Given the description of an element on the screen output the (x, y) to click on. 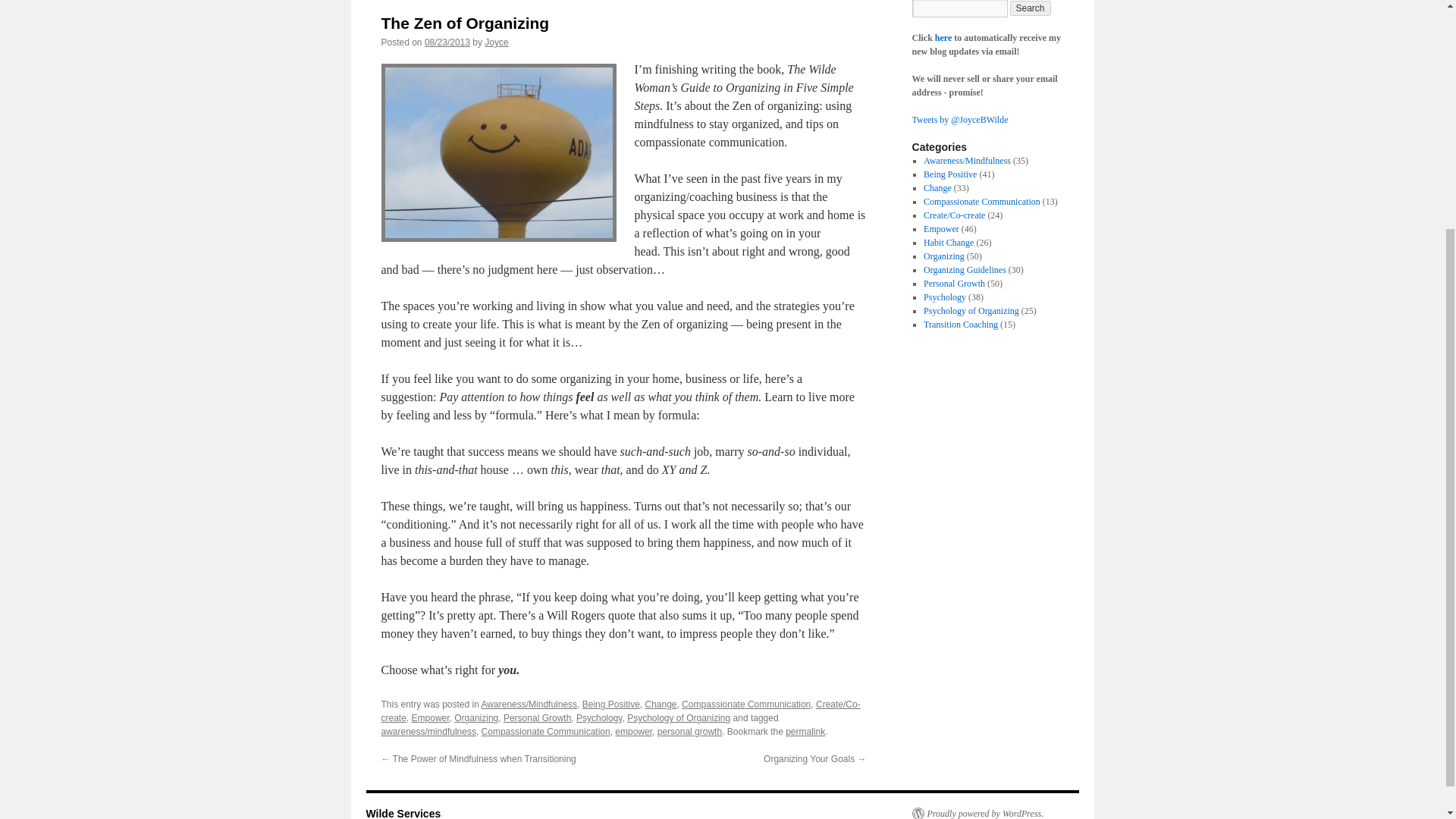
Permalink to The Zen of Organizing (805, 731)
permalink (805, 731)
View all posts by Joyce (496, 41)
Compassionate Communication (545, 731)
Psychology of Organizing (678, 717)
Being Positive (949, 173)
Organizing (475, 717)
Empower (941, 228)
here (943, 37)
Being Positive (611, 704)
